Given the description of an element on the screen output the (x, y) to click on. 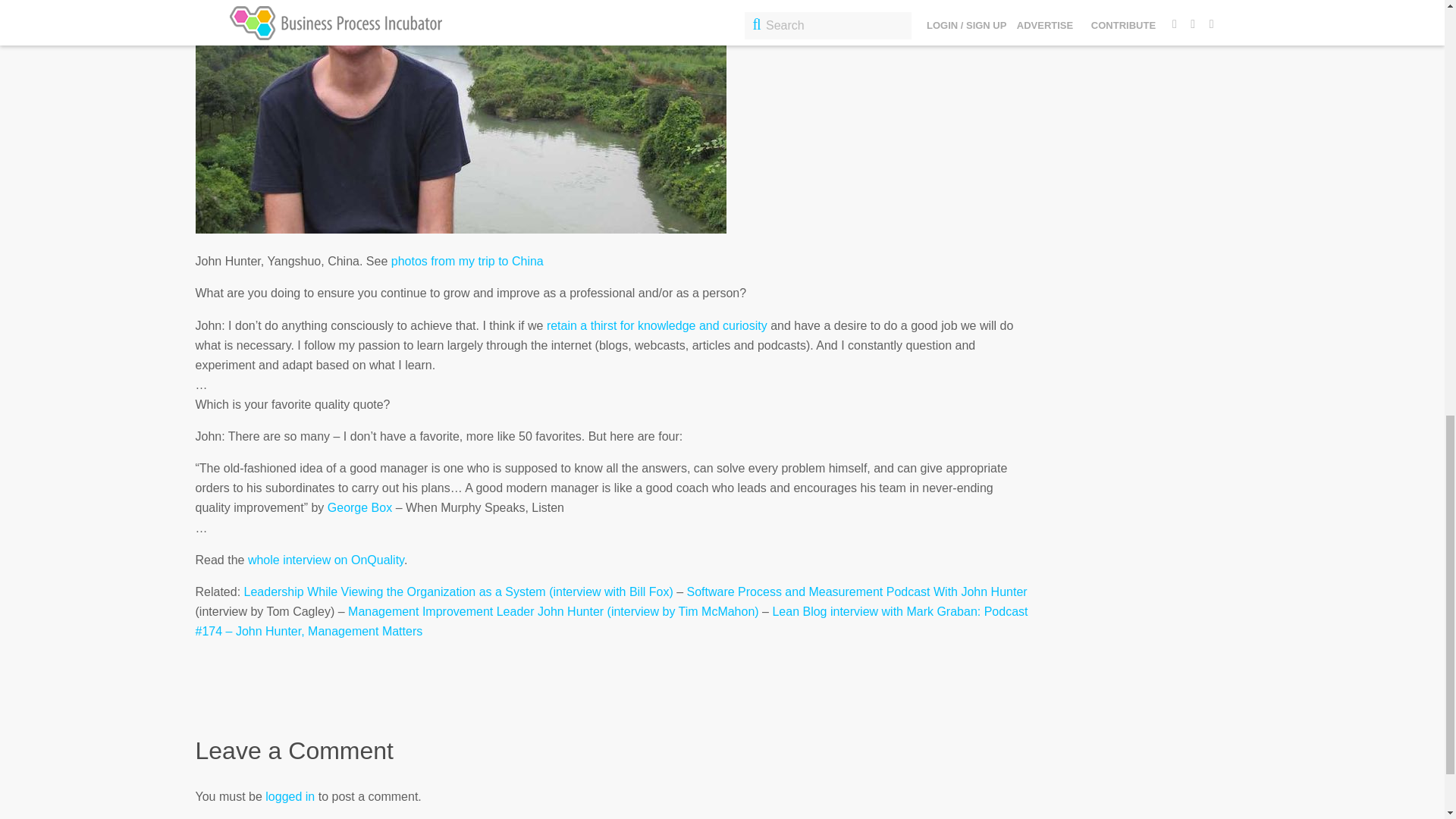
photos from my trip to China (467, 260)
retain a thirst for knowledge and curiosity (657, 325)
whole interview on OnQuality (325, 559)
logged in (289, 796)
George Box (359, 507)
Software Process and Measurement Podcast With John Hunter (857, 591)
